Given the description of an element on the screen output the (x, y) to click on. 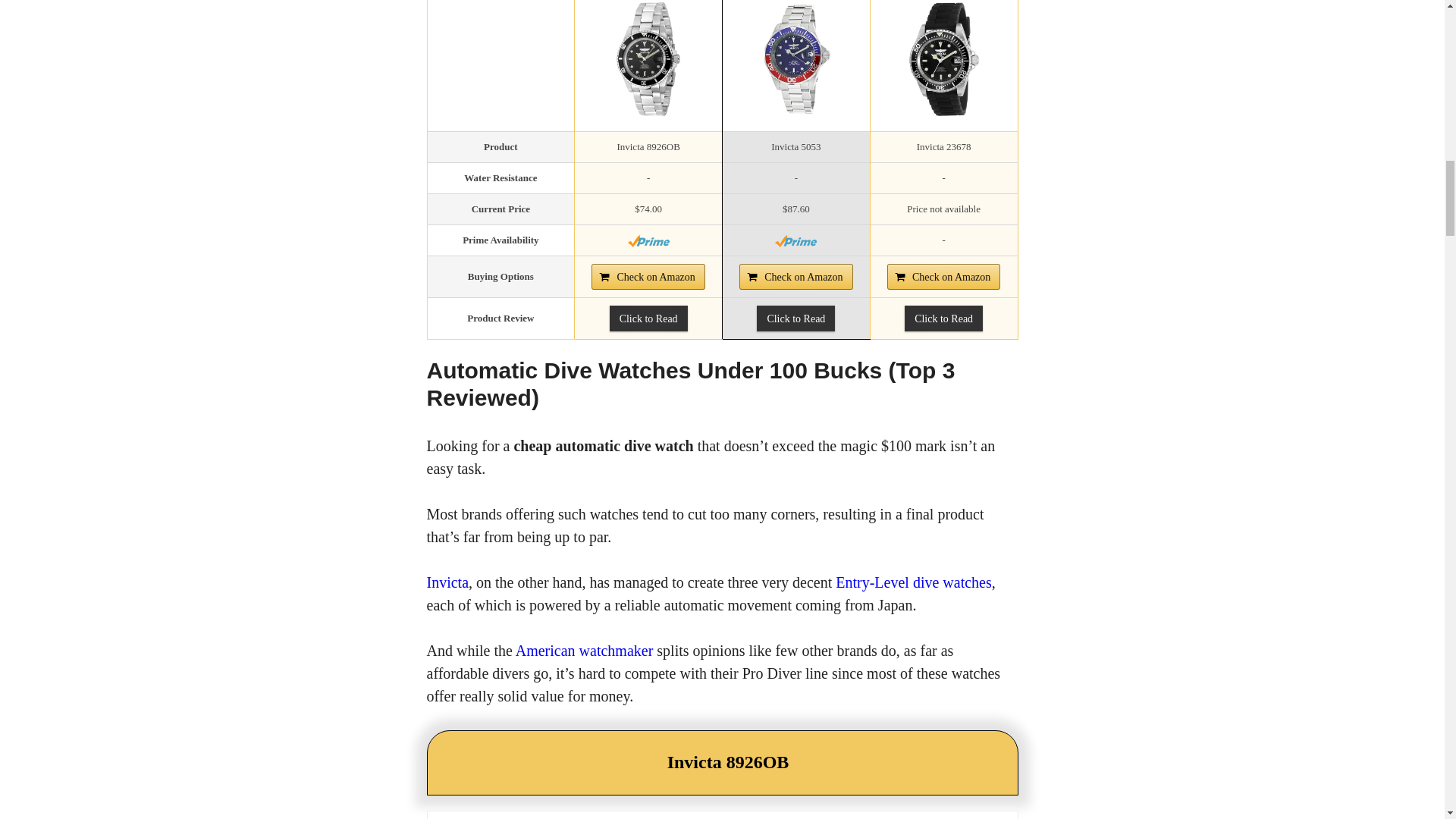
Click to Read (648, 318)
Check on Amazon (647, 276)
Check on Amazon (795, 276)
Click to Read (795, 318)
Amazon Prime (648, 241)
Check on Amazon (795, 276)
Click to Read (943, 318)
Amazon Prime (795, 241)
Check on Amazon (647, 276)
Check on Amazon (943, 276)
